Given the description of an element on the screen output the (x, y) to click on. 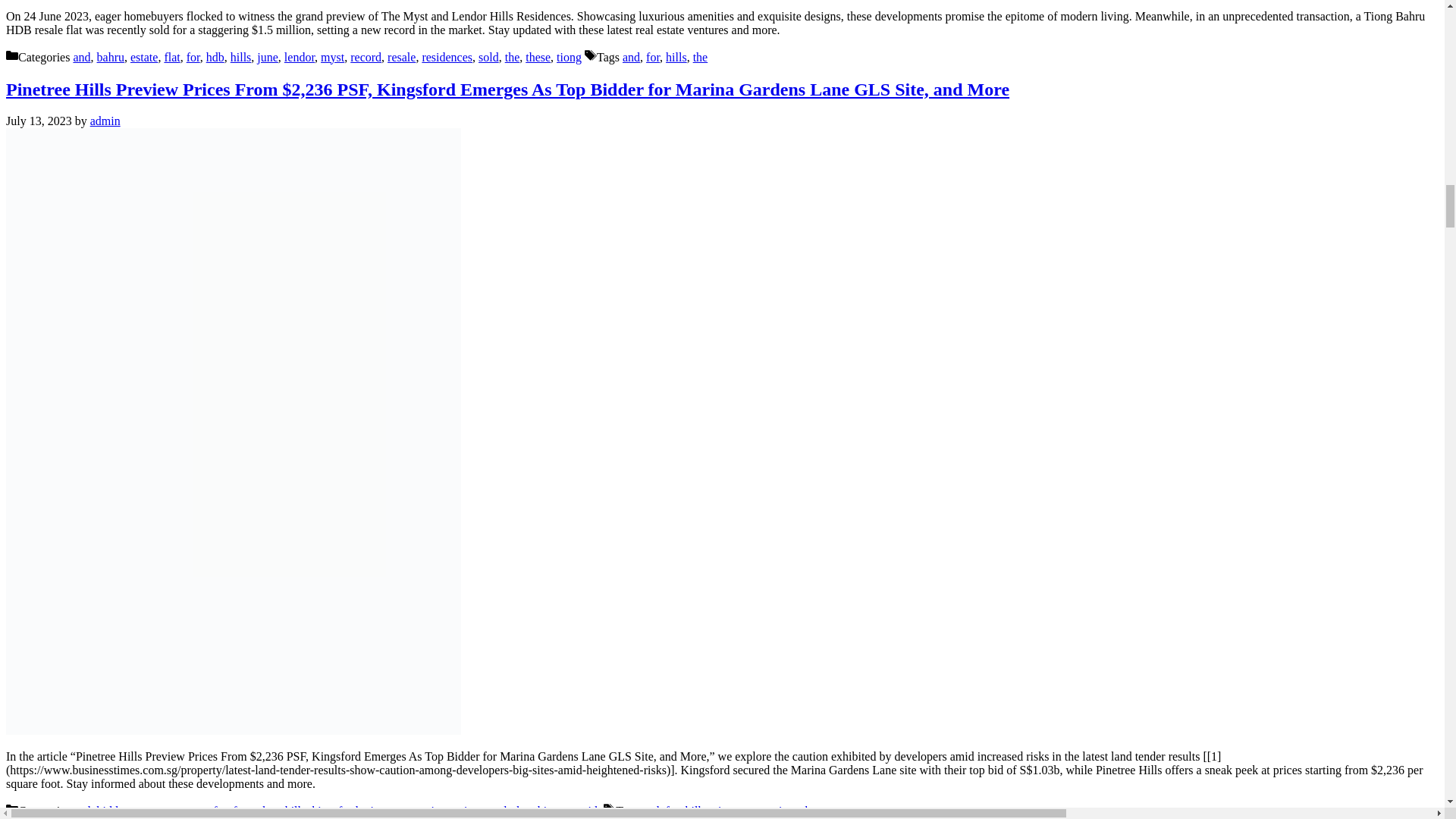
View all posts by admin (105, 120)
